Given the description of an element on the screen output the (x, y) to click on. 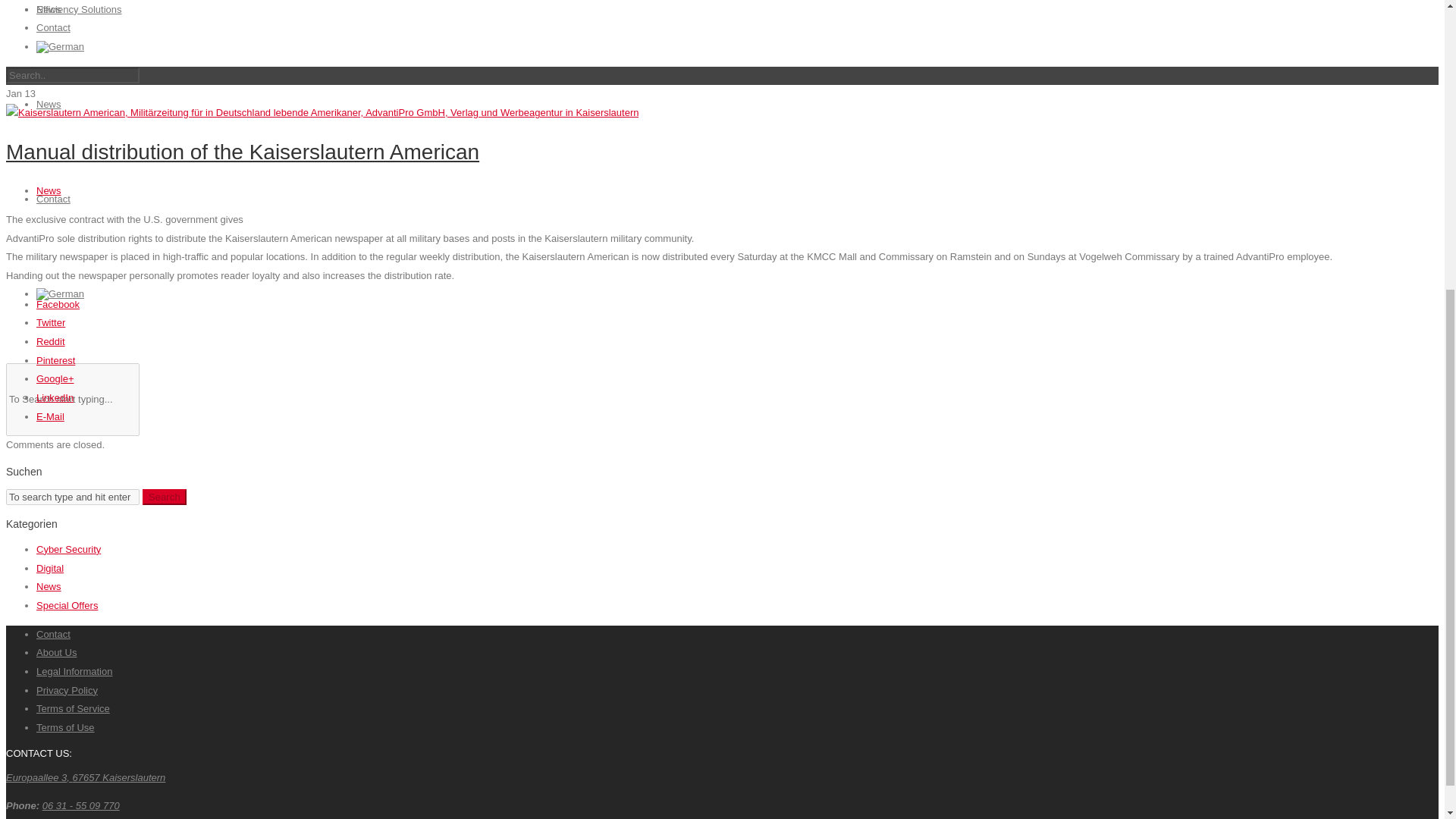
Contact (52, 27)
Search (164, 496)
Share via Facebook (58, 304)
To search type and hit enter (72, 496)
Share via Twitter (50, 322)
Share via LinkedIn (55, 397)
Share via E-Mail (50, 416)
Efficiency Solutions (79, 9)
Share via Pinterest (55, 360)
Contact (52, 198)
Share via Tumblr (50, 341)
Manual distribution of the Kaiserslautern American (322, 112)
News (48, 103)
News (48, 9)
